Given the description of an element on the screen output the (x, y) to click on. 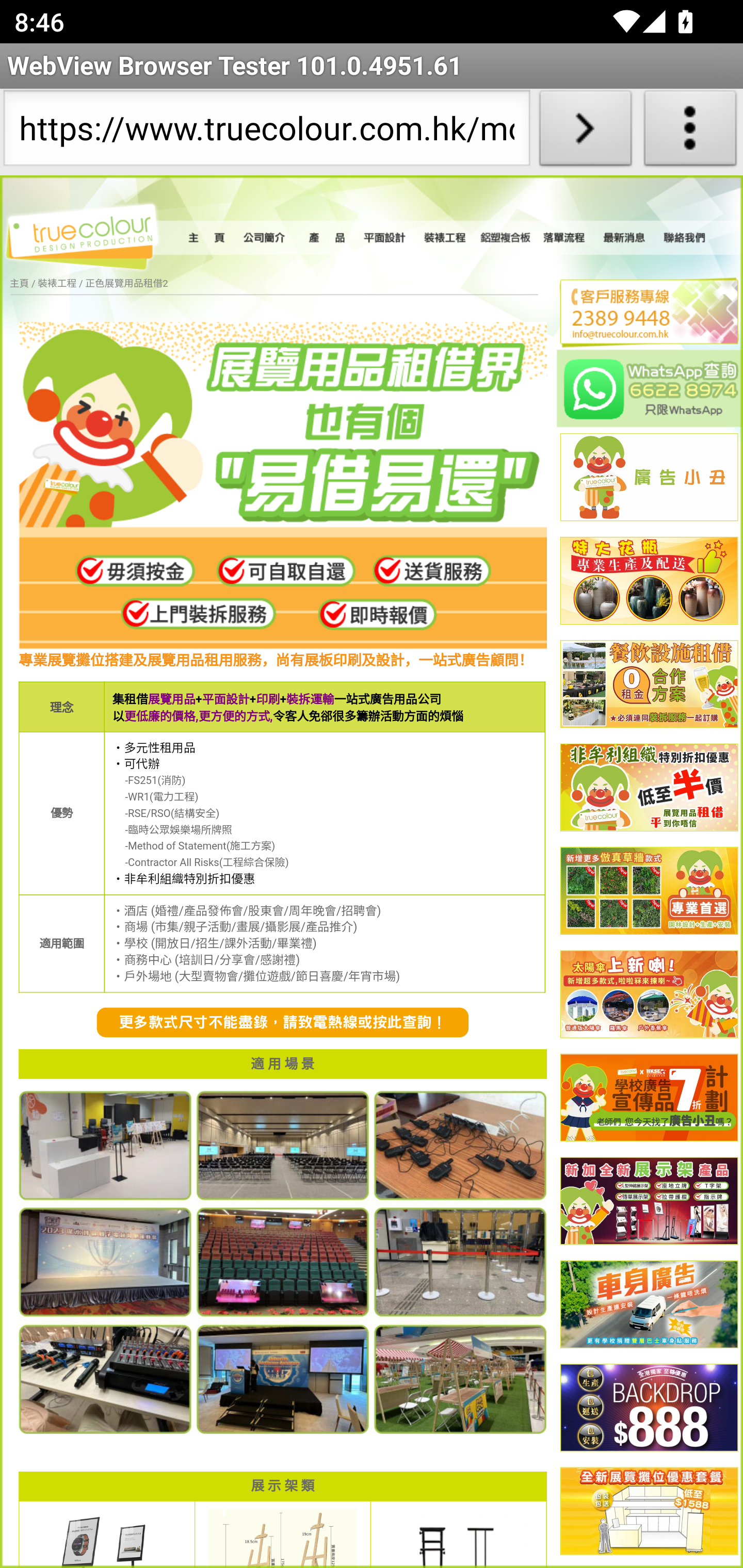
Load URL (585, 132)
About WebView (690, 132)
true colour DESIGN PRODUCTION (92, 234)
主頁 (209, 238)
公司簡介 (266, 238)
產品 (326, 238)
稿件設計 (386, 238)
裝裱工程 (445, 238)
鋁塑板 (505, 238)
落單流程 (564, 238)
最新清息 (624, 238)
聯絡我們 (685, 238)
主頁 (18, 283)
mailto:info@truecolour.com (641, 334)
WhatsApp (649, 388)
%E8%8A%B1%E7%93%B6%E5%B0%8F1 (648, 581)
%E9%A4%90%E9%A3%B2banner%E5%B0%8F (648, 684)
%E9%9D%9E%E7%89%9F%E5%88%A9 (648, 788)
banner-%E5%81%87%E8%8D%89%E6%96%B04 (648, 891)
%E5%A4%AA%E9%99%BD%E5%82%982 (648, 994)
contactus (282, 1022)
banner%E5%AD%B8%E6%A0%A1%E6%96%B0 (648, 1098)
%E5%B1%95%E7%A4%BA%E6%9E%B611 (648, 1201)
banner-%E8%BB%8A%E8%B2%BC1 (648, 1305)
banner-brodrop (648, 1408)
banner-%E5%B1%95%E6%9C%83 (648, 1512)
